Given the description of an element on the screen output the (x, y) to click on. 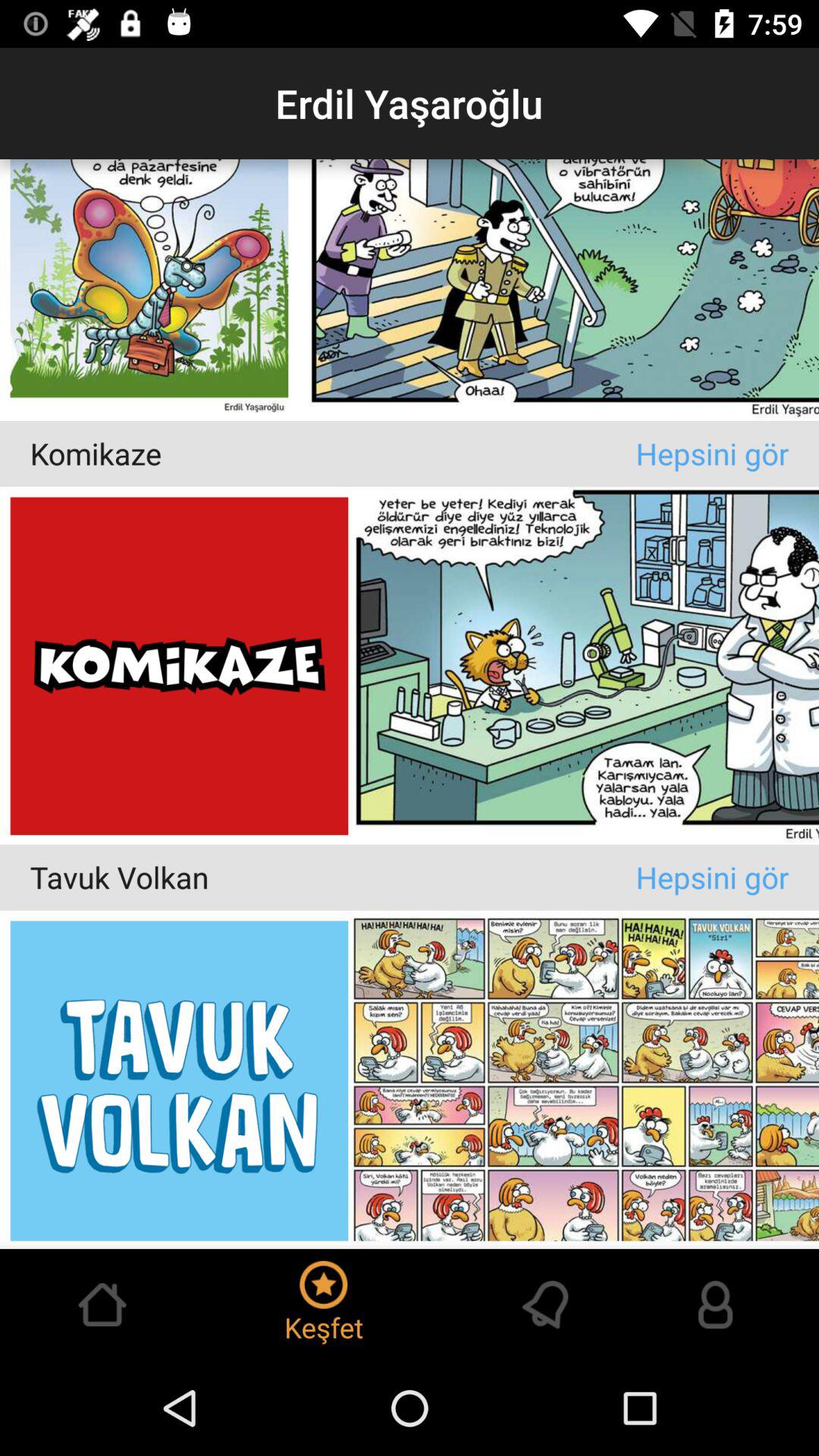
choose tavuk volkan at the center (332, 877)
